Given the description of an element on the screen output the (x, y) to click on. 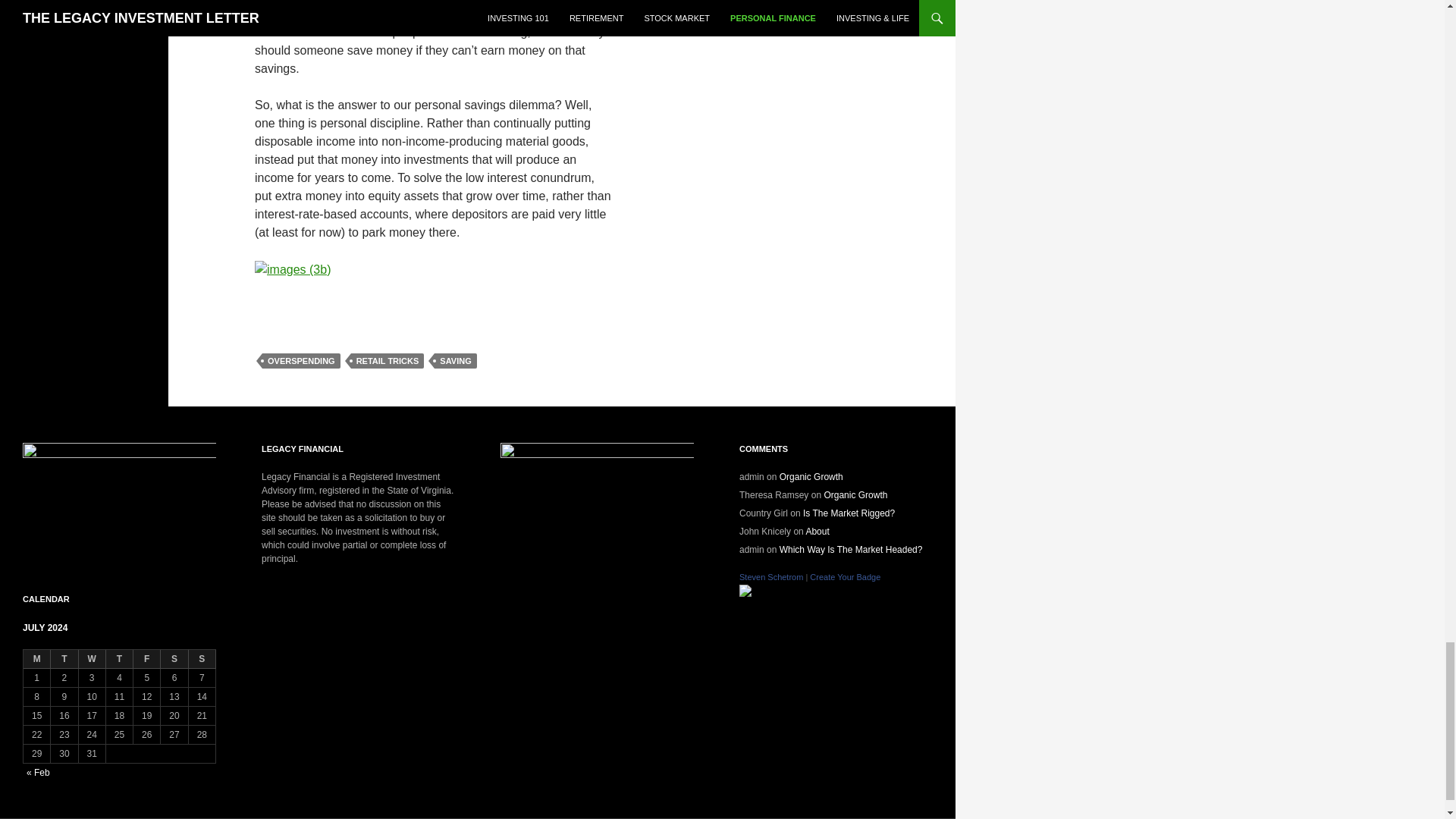
Steven Schetrom (745, 590)
Monday (36, 659)
Thursday (119, 659)
Wednesday (92, 659)
Saturday (173, 659)
Steven Schetrom (771, 575)
Friday (146, 659)
Sunday (202, 659)
Make your own badge! (844, 575)
Tuesday (64, 659)
